Given the description of an element on the screen output the (x, y) to click on. 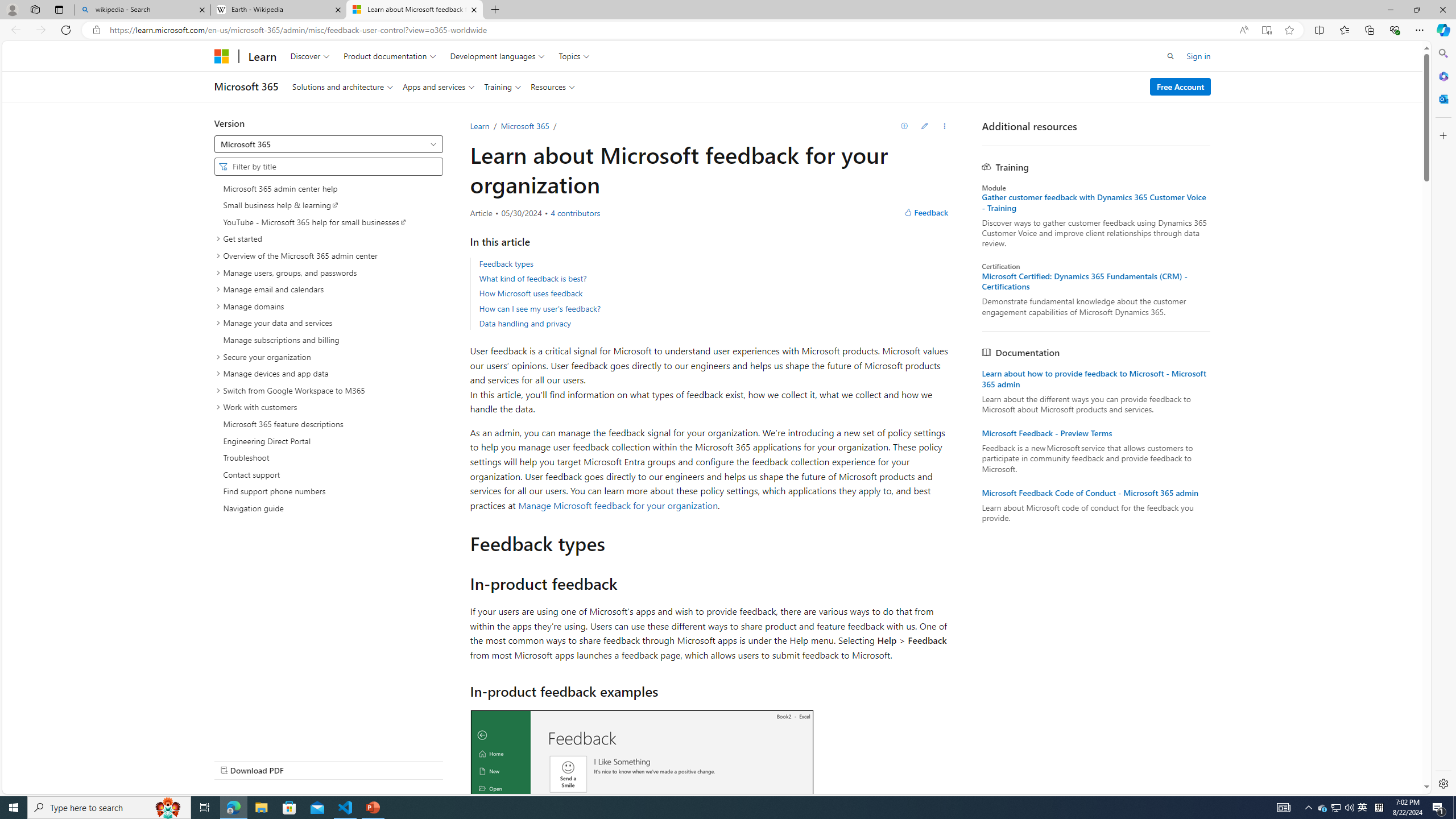
Resources (552, 86)
Copilot (Ctrl+Shift+.) (1442, 29)
How can I see my user's feedback? (539, 307)
Download PDF (328, 769)
Discover (309, 55)
Address and search bar (670, 29)
How can I see my user's feedback? (714, 308)
Edit (924, 126)
Restore (1416, 9)
Side bar (1443, 418)
Favorites (1344, 29)
